Given the description of an element on the screen output the (x, y) to click on. 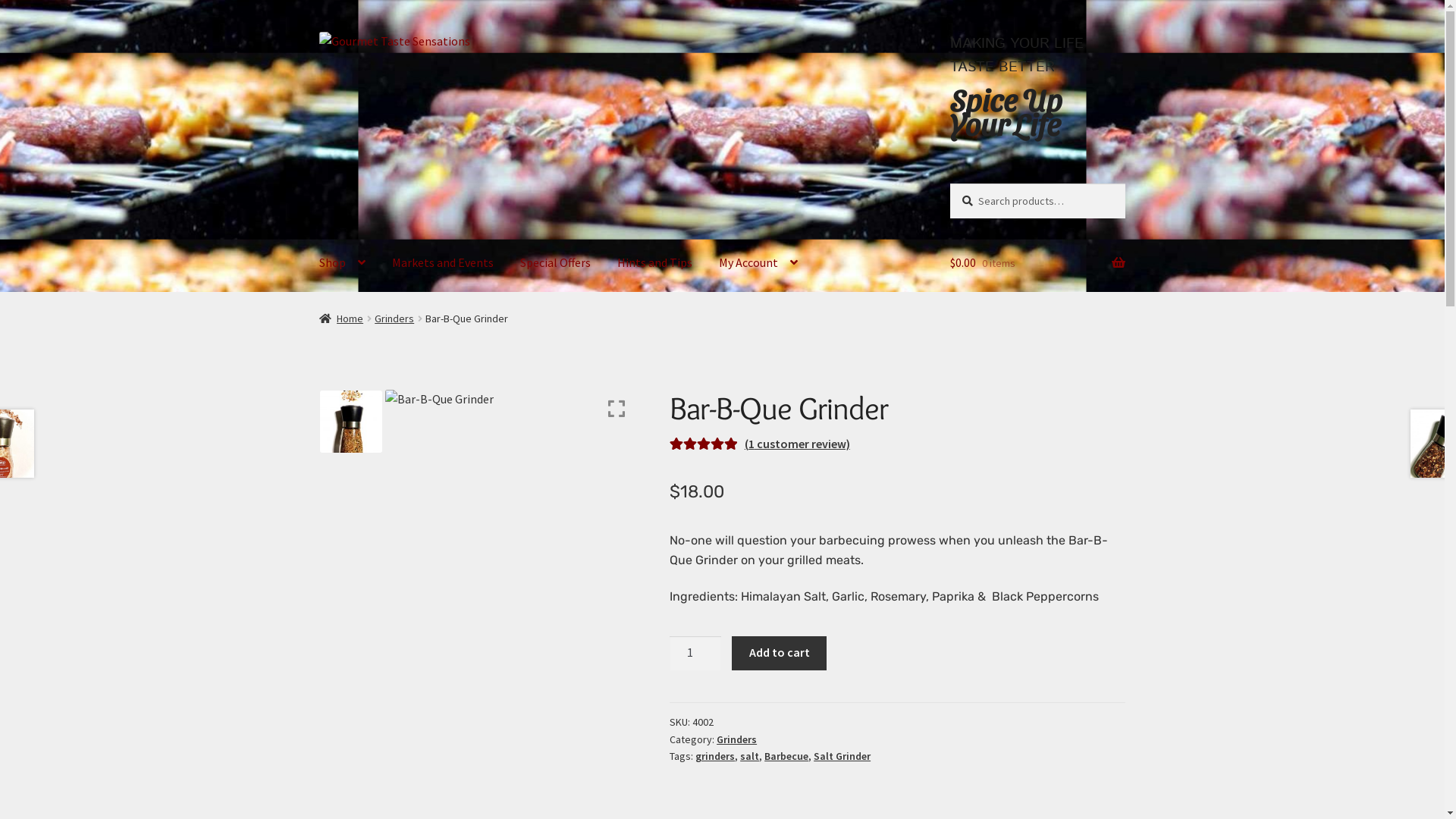
Add to cart Element type: text (778, 653)
Bar-B-Que Grinder Element type: hover (509, 555)
Hints and Tips Element type: text (654, 262)
Salt Grinder Element type: text (841, 755)
Skip to navigation Element type: text (318, 31)
Home Element type: text (341, 318)
Markets and Events Element type: text (442, 262)
Search Element type: text (949, 182)
My Account Element type: text (757, 262)
Grinders Element type: text (394, 318)
Barbecue Element type: text (786, 755)
salt Element type: text (749, 755)
Shop Element type: text (342, 262)
Grinders Element type: text (736, 739)
$0.00 0 items Element type: text (1037, 262)
Special Offers Element type: text (555, 262)
grinders Element type: text (714, 755)
(1 customer review) Element type: text (797, 443)
